Given the description of an element on the screen output the (x, y) to click on. 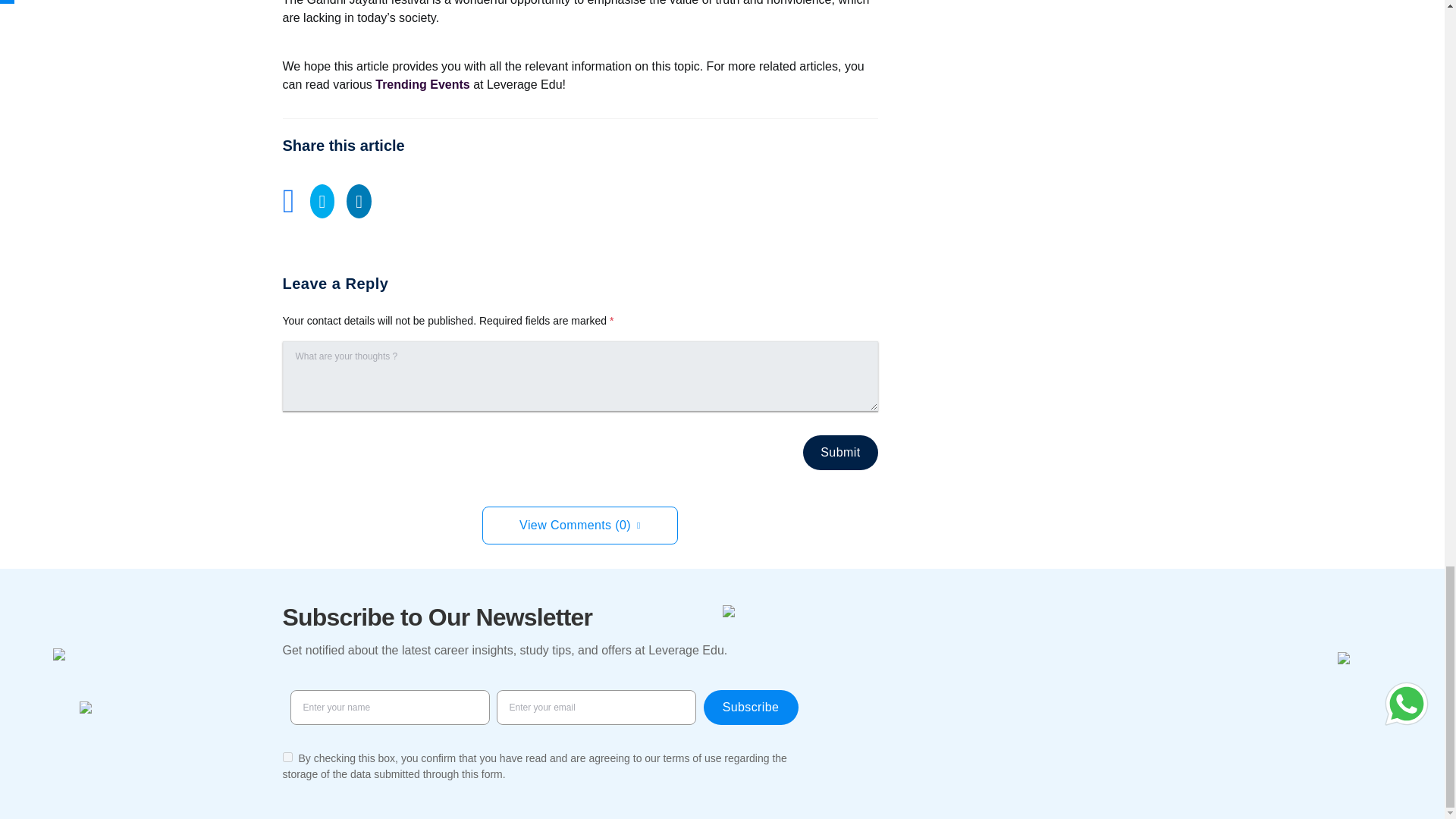
on (287, 757)
